Given the description of an element on the screen output the (x, y) to click on. 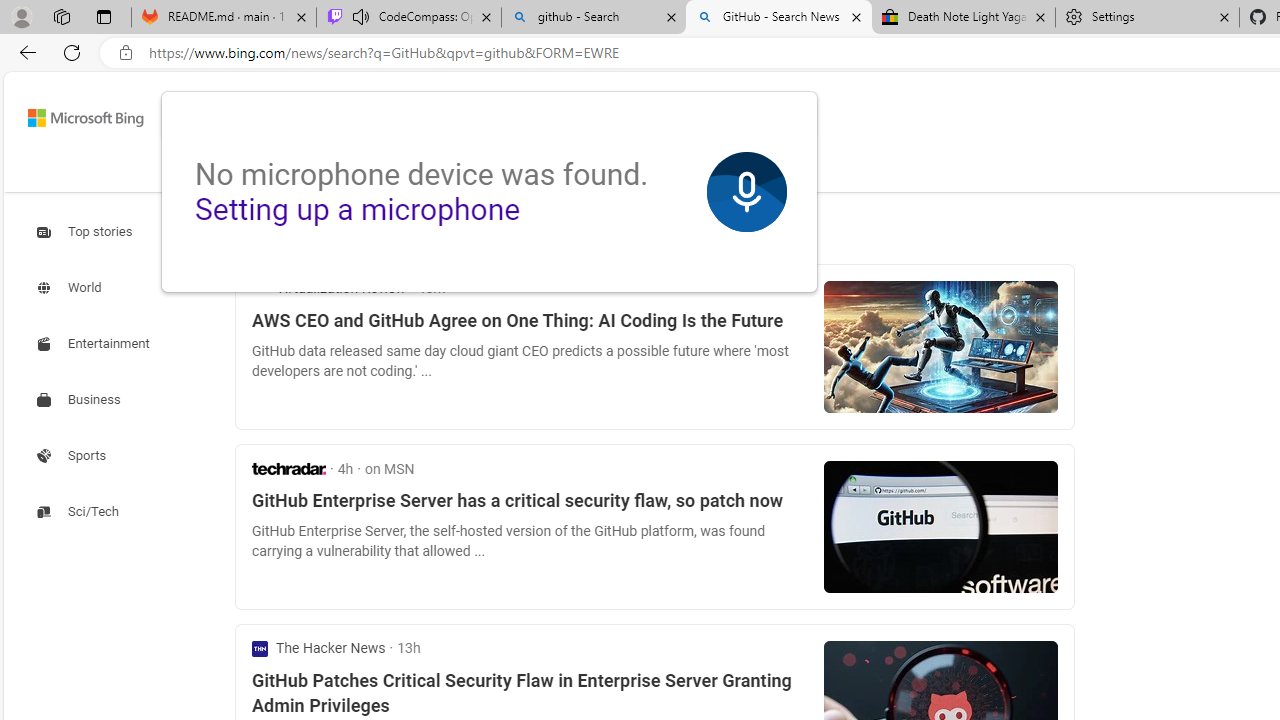
MAPS (546, 170)
Search news from Virtualization Review (328, 288)
Search news about Business (80, 400)
Setting up a microphone (357, 209)
IMAGES (394, 170)
Stop listening (746, 192)
NEWS (618, 170)
Search news about Entertainment (95, 344)
Clear text (715, 117)
MAPS (546, 173)
